Given the description of an element on the screen output the (x, y) to click on. 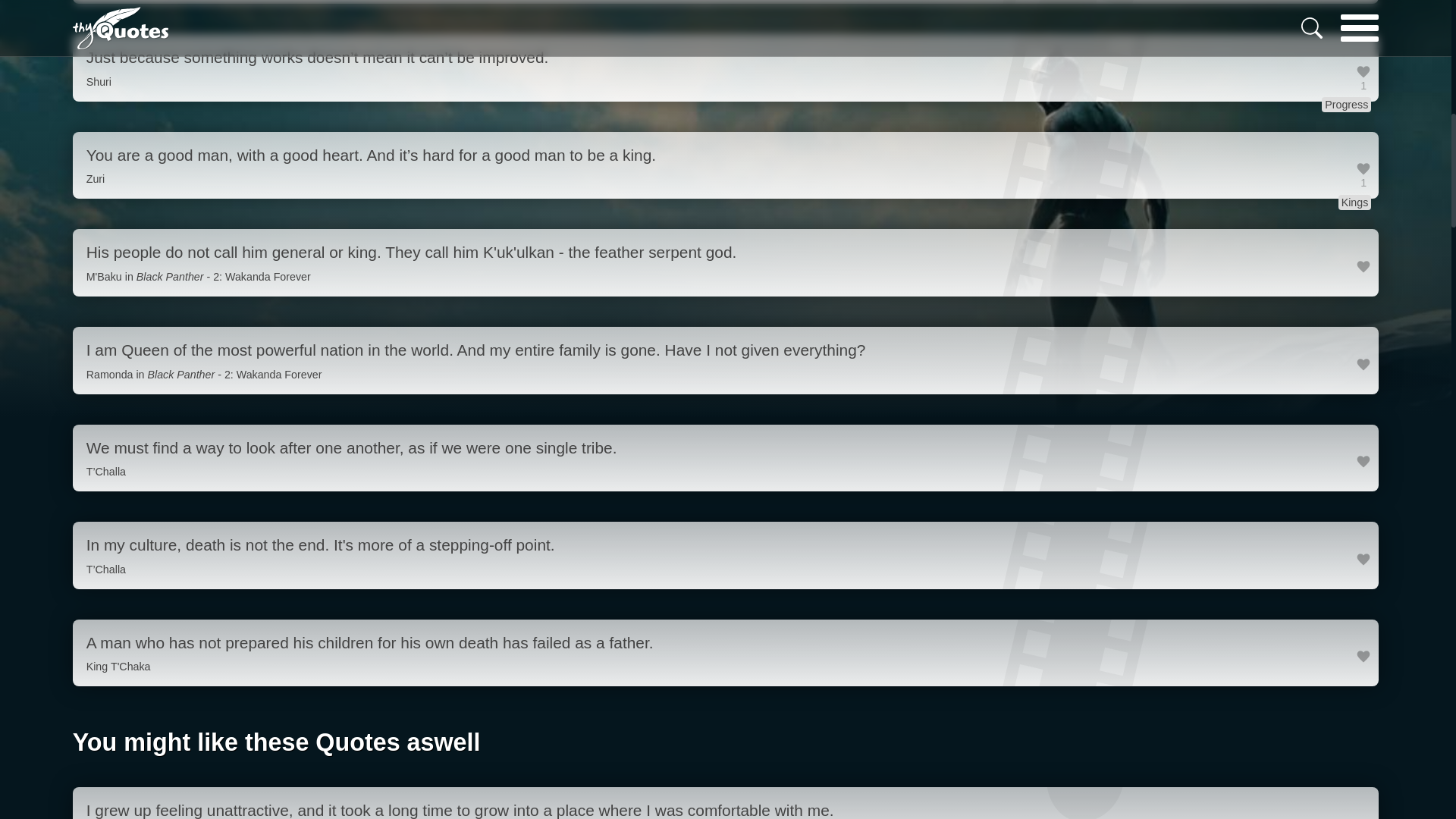
Progress (1346, 104)
Kings (1354, 201)
